Given the description of an element on the screen output the (x, y) to click on. 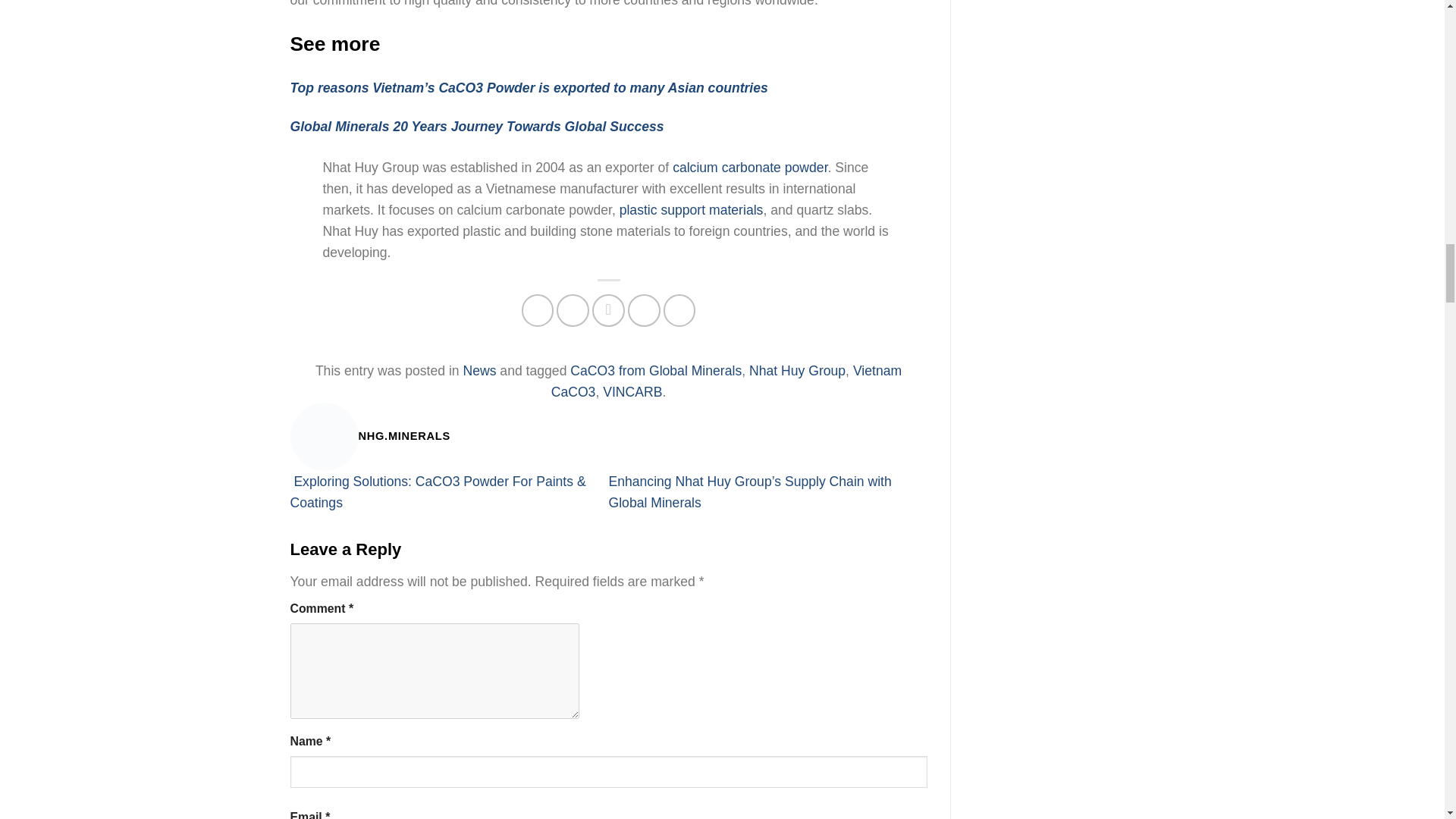
calcium carbonate powder (749, 167)
Email to a Friend (608, 310)
Share on LinkedIn (679, 310)
Global Minerals 20 Years Journey Towards Global Success (476, 126)
Share on Facebook (537, 310)
plastic support materials (691, 209)
Pin on Pinterest (644, 310)
Share on Twitter (572, 310)
